Given the description of an element on the screen output the (x, y) to click on. 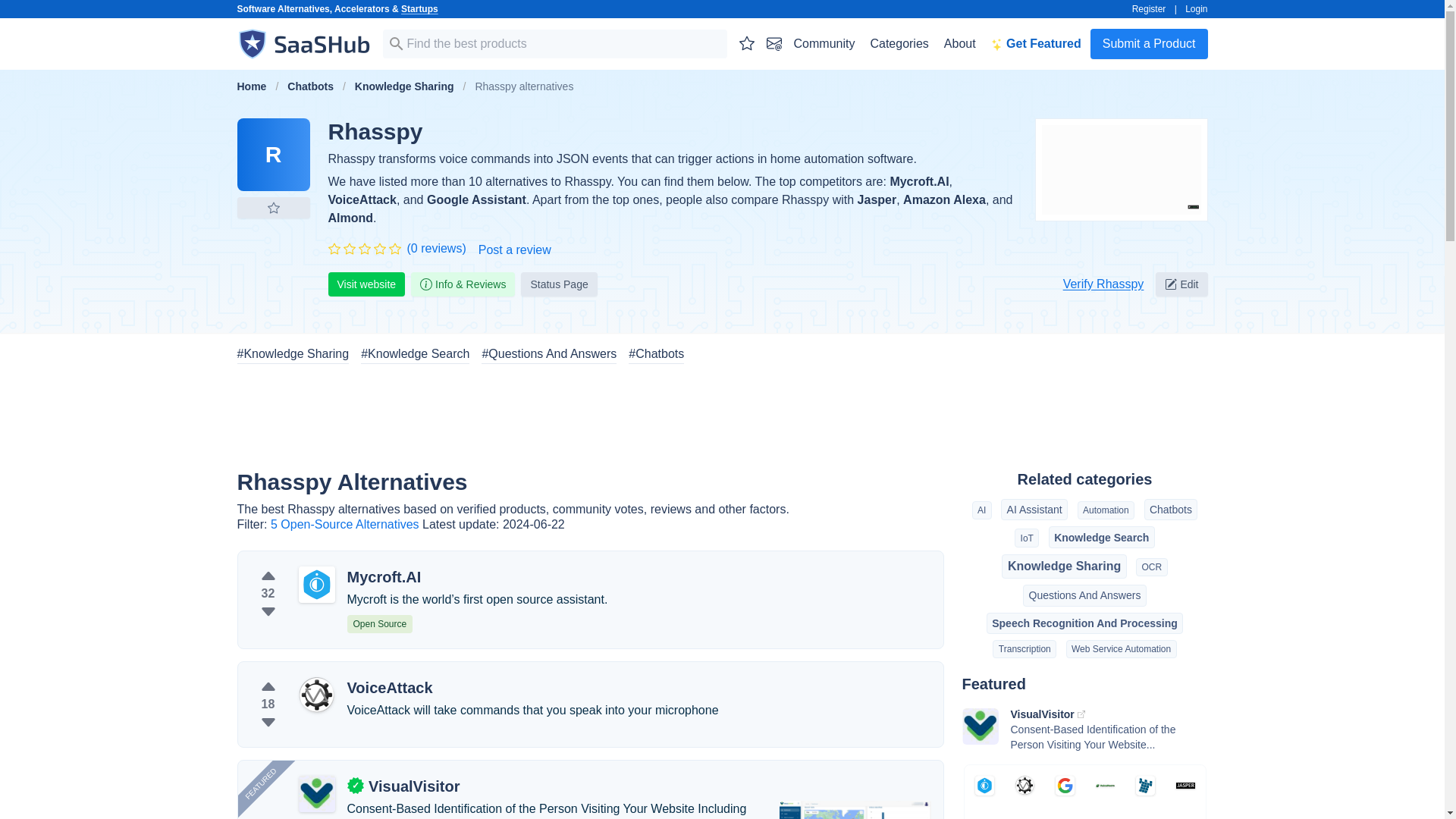
Knowledge Sharing (404, 86)
The best Knowledge Search products (414, 353)
Verify Rhasspy (1103, 284)
Almond (349, 217)
All Rhasspy reviews (435, 248)
VoiceAttack (361, 199)
Categories (898, 43)
The best Chatbots products (656, 353)
Submit a Product (1149, 43)
R (271, 153)
